Given the description of an element on the screen output the (x, y) to click on. 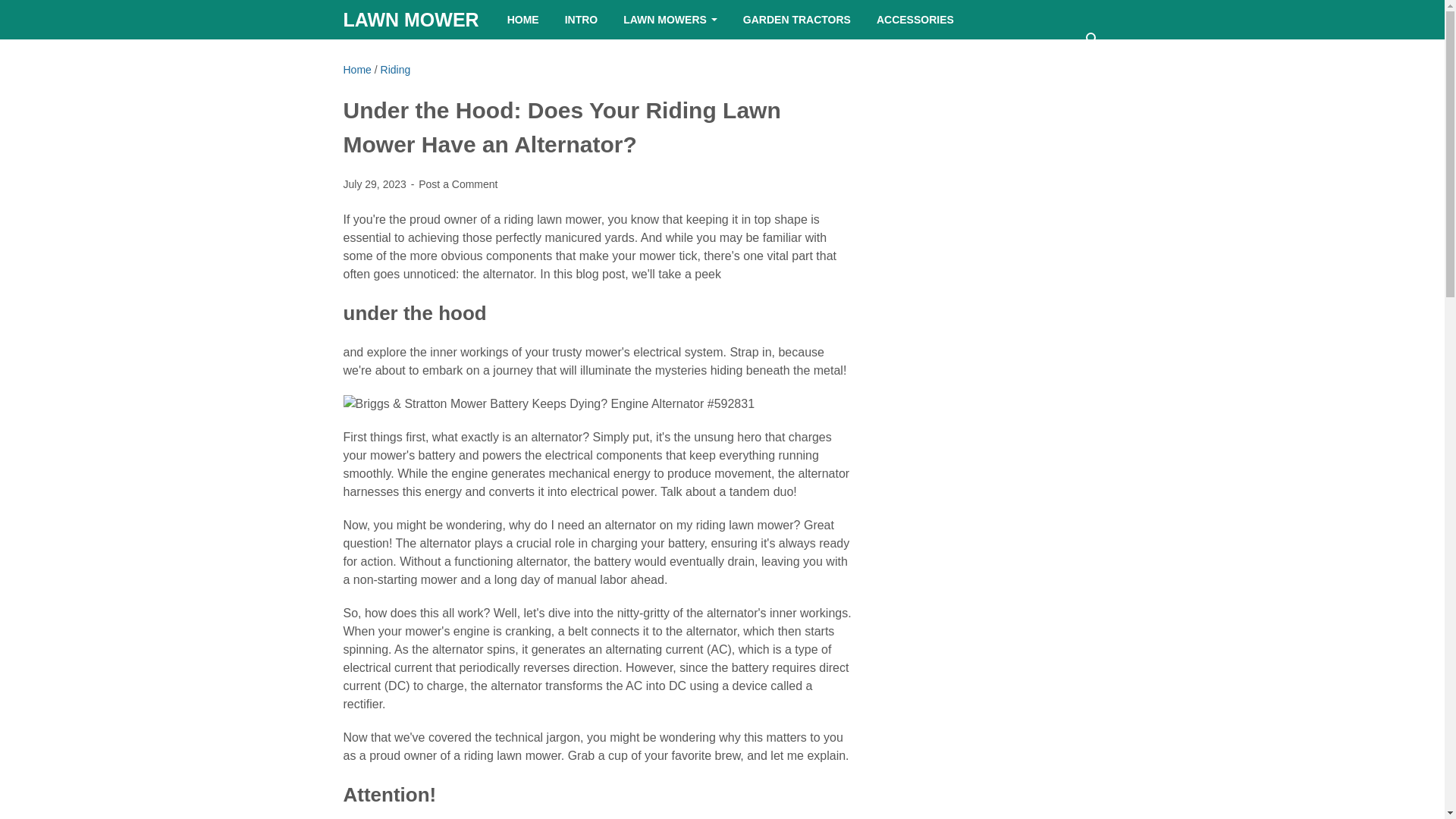
LAWN MOWERS (670, 19)
Search this blog (1091, 39)
Post a Comment (458, 184)
LAWN MOWER (410, 19)
Lawn Mower (410, 19)
HOME (523, 19)
Home (356, 69)
Riding (395, 69)
Home (356, 69)
MAINTENANCE AND CARE (429, 58)
2023-07-29T20:38:00-07:00 (375, 184)
Riding (395, 69)
ACCESSORIES (914, 19)
INTRO (581, 19)
GARDEN TRACTORS (796, 19)
